Given the description of an element on the screen output the (x, y) to click on. 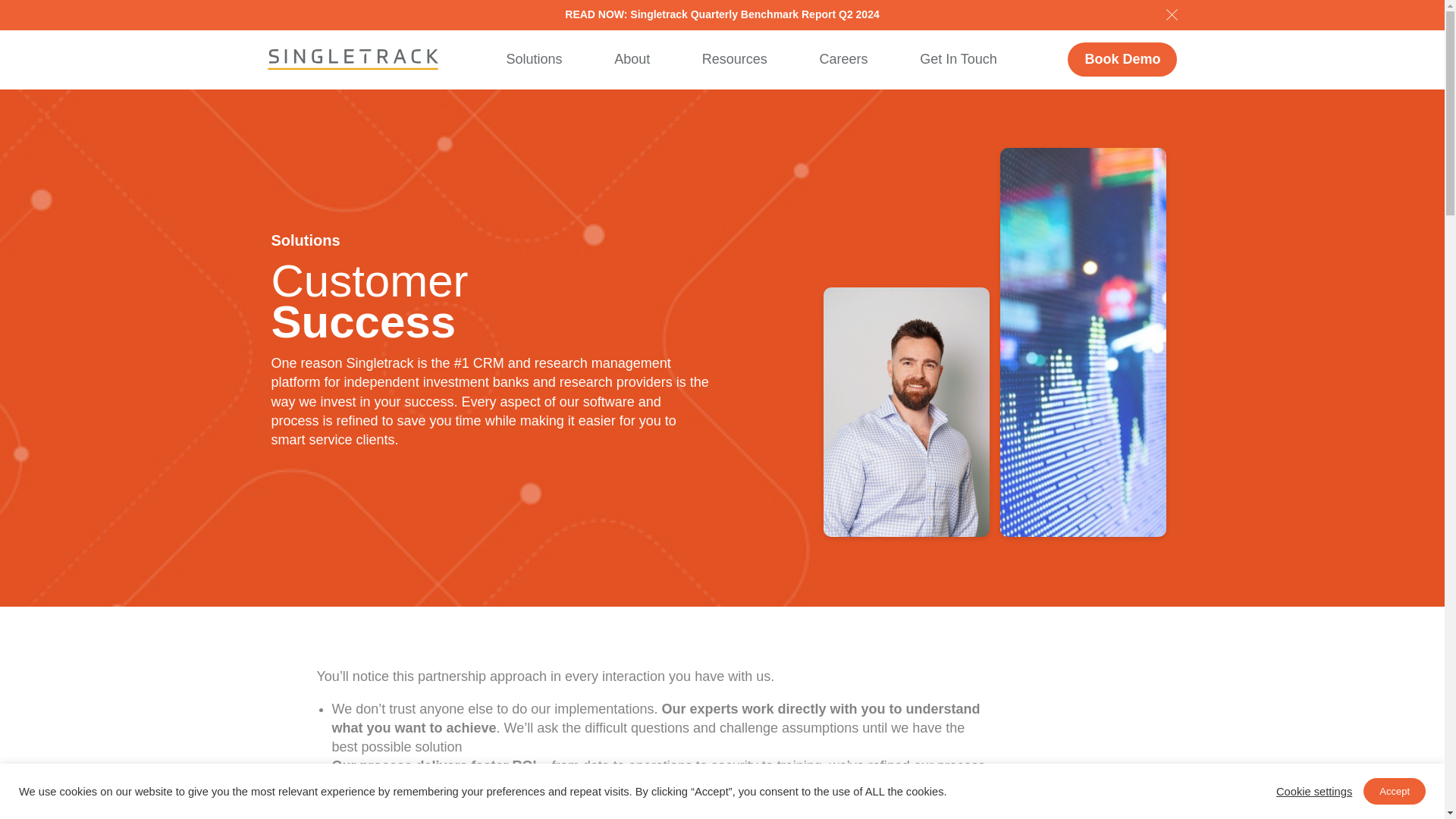
Get In Touch (958, 59)
Book Demo (1121, 59)
About (632, 59)
READ NOW: Singletrack Quarterly Benchmark Report Q2 2024 (721, 14)
Careers (842, 59)
Solutions (534, 59)
Resources (734, 59)
